Given the description of an element on the screen output the (x, y) to click on. 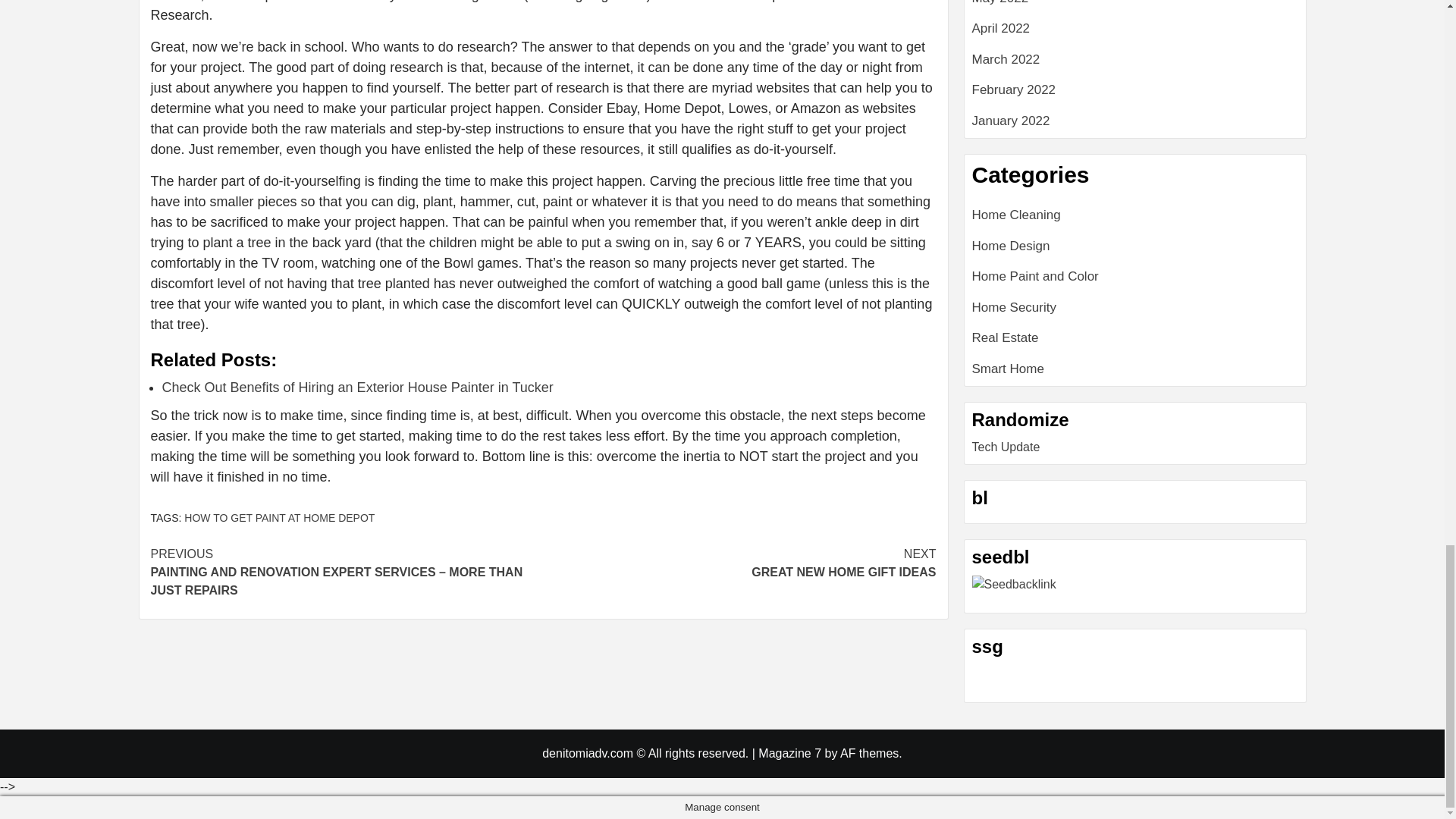
Seedbacklink (739, 563)
HOW TO GET PAINT AT HOME DEPOT (1014, 584)
